Given the description of an element on the screen output the (x, y) to click on. 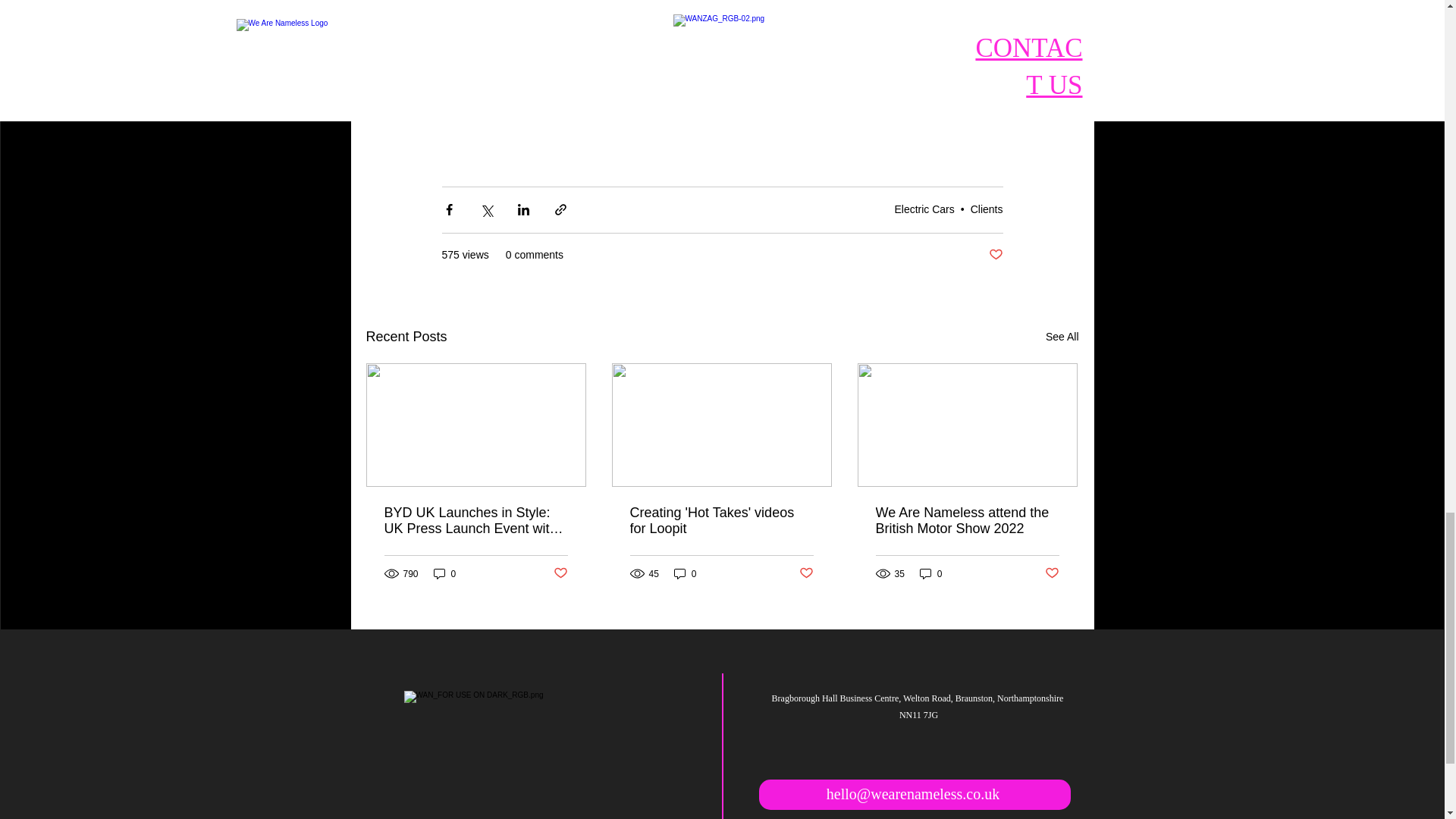
Post not marked as liked (995, 254)
0 (445, 573)
Clients (987, 209)
Post not marked as liked (1052, 573)
Electric Cars (923, 209)
0 (685, 573)
Creating 'Hot Takes' videos for Loopit (720, 521)
Post not marked as liked (560, 573)
